Given the description of an element on the screen output the (x, y) to click on. 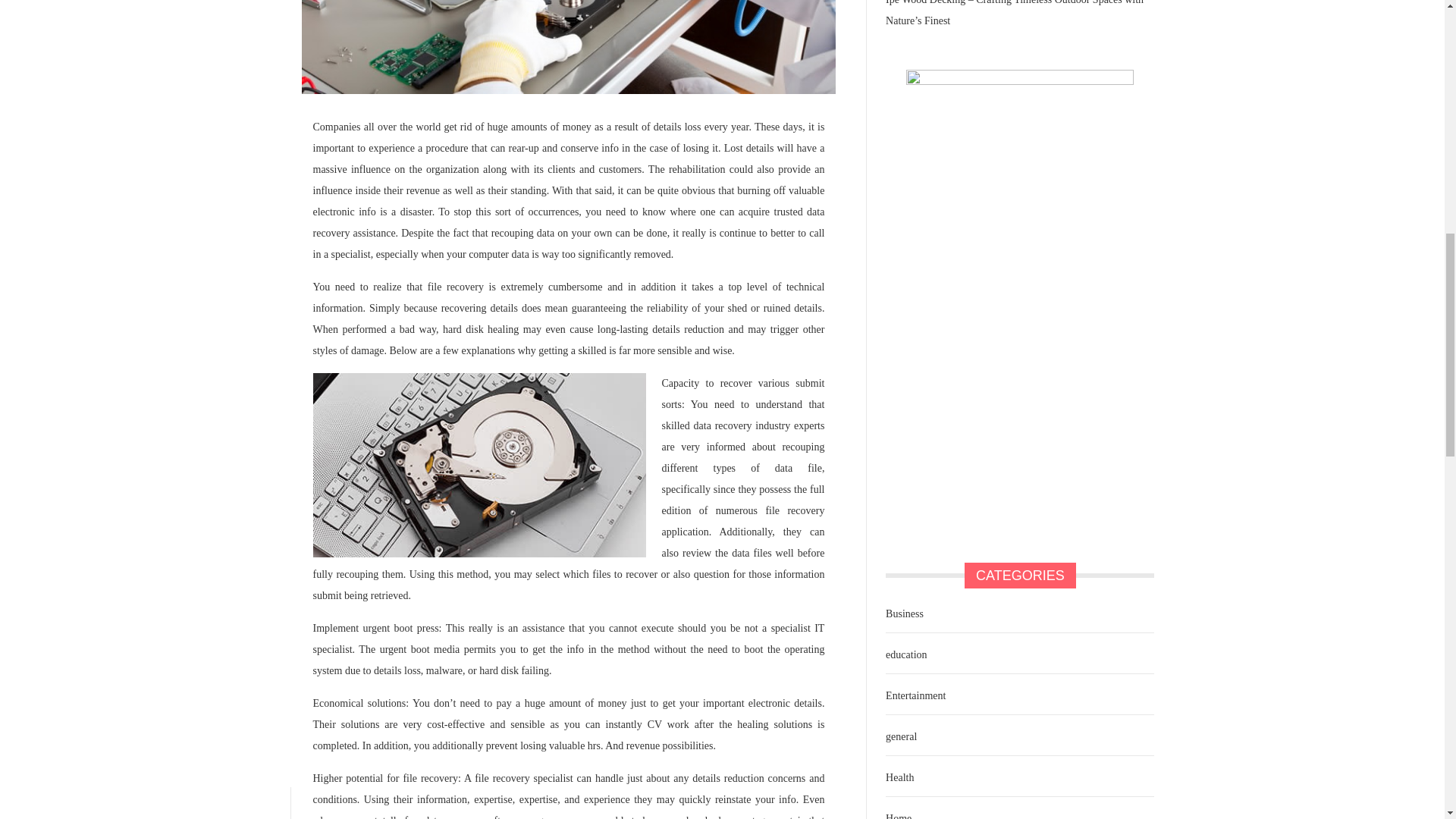
Business (902, 613)
Entertainment (913, 695)
Health (898, 777)
general (899, 736)
Home (896, 813)
education (904, 654)
